Given the description of an element on the screen output the (x, y) to click on. 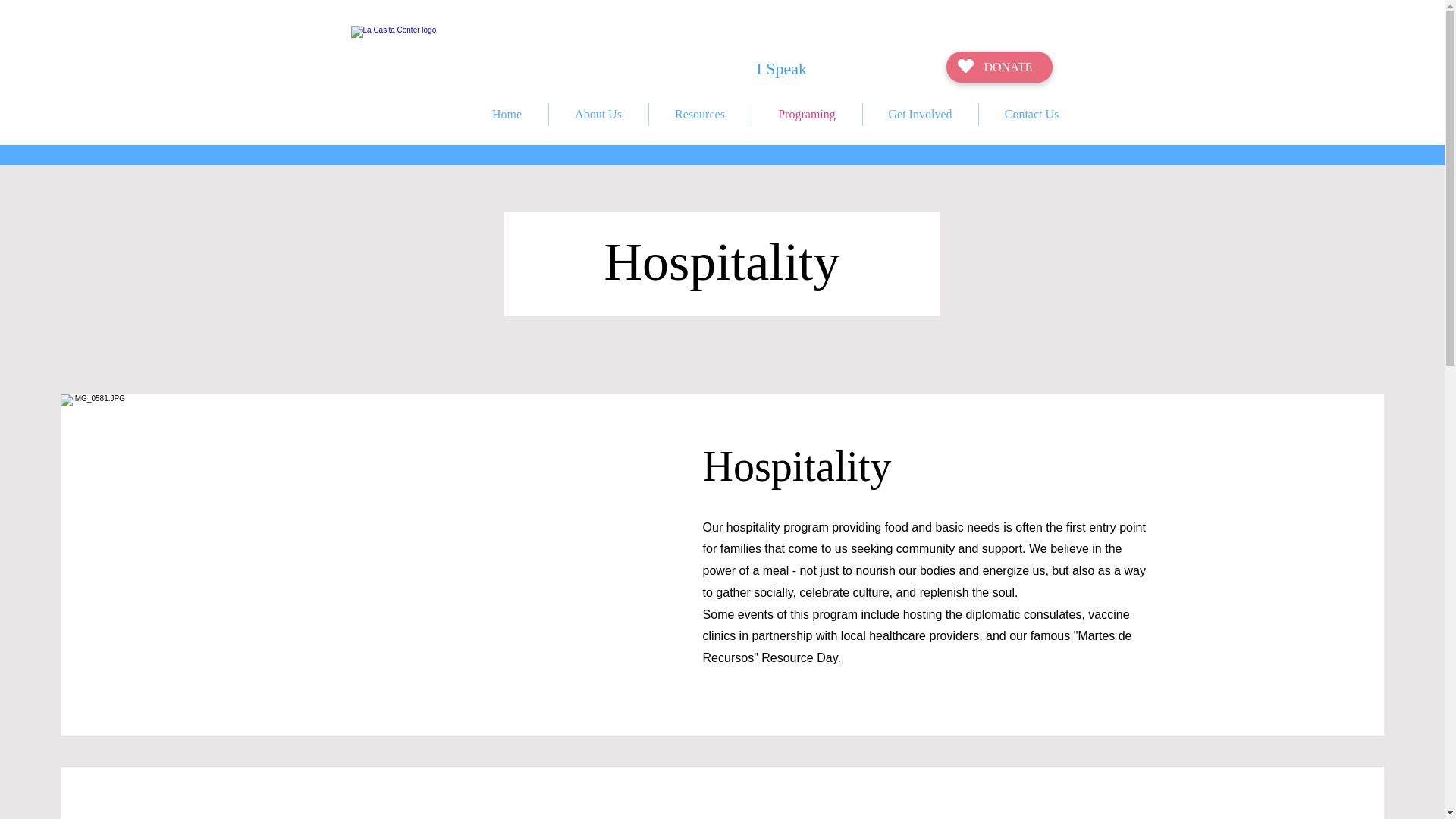
About Us (597, 114)
Home (506, 114)
Programing (806, 114)
DONATE (999, 66)
Resources (700, 114)
Contact Us (1031, 114)
Get Involved (920, 114)
